Given the description of an element on the screen output the (x, y) to click on. 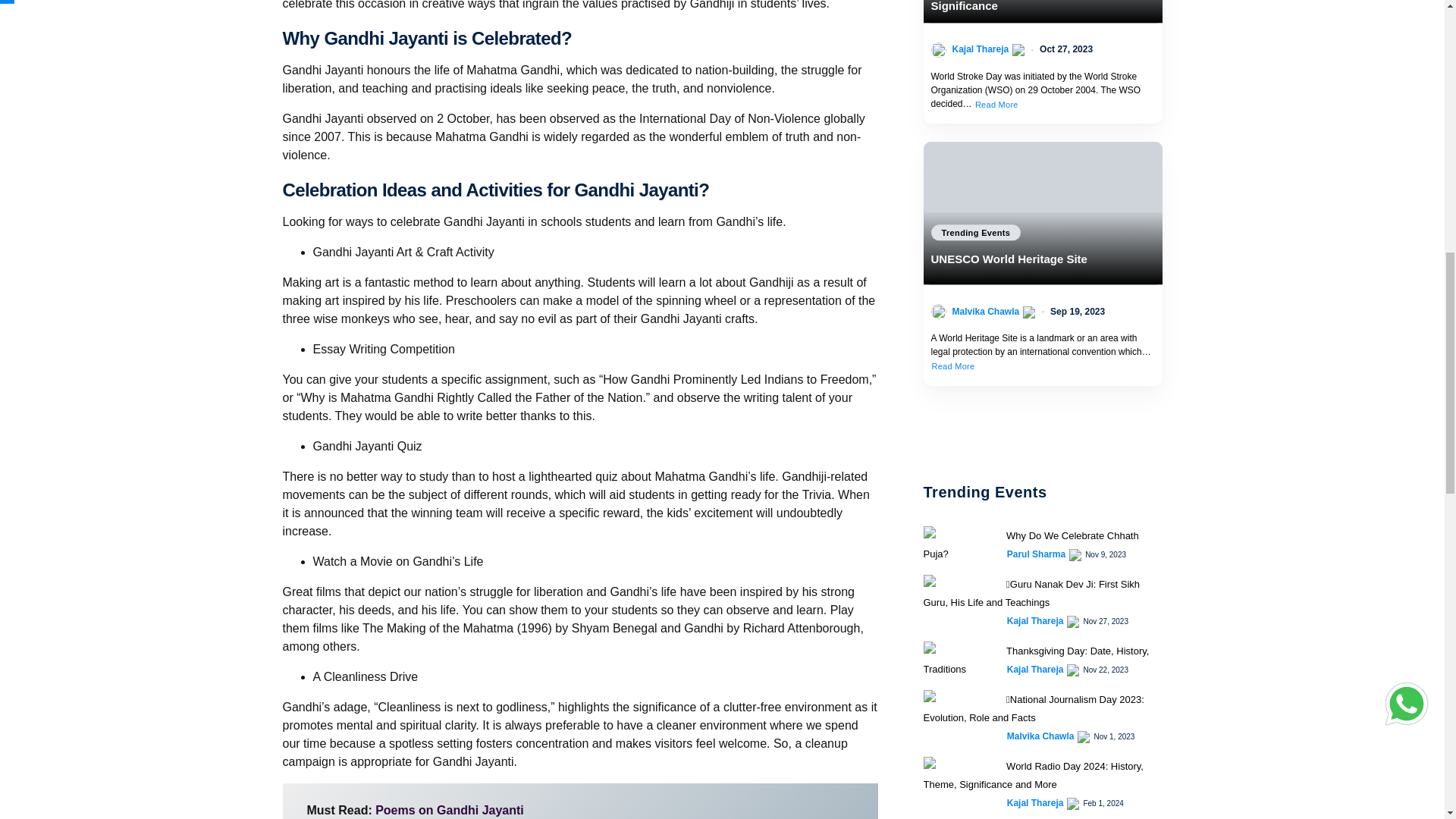
View all posts by Kajal Thareja (1035, 669)
View all posts by Malvika Chawla (1040, 735)
View all posts by Kajal Thareja (980, 49)
View all posts by Parul Sharma (1036, 554)
View all posts by Kajal Thareja (1035, 802)
View all posts by Malvika Chawla (986, 311)
View all posts by Kajal Thareja (1035, 621)
